Given the description of an element on the screen output the (x, y) to click on. 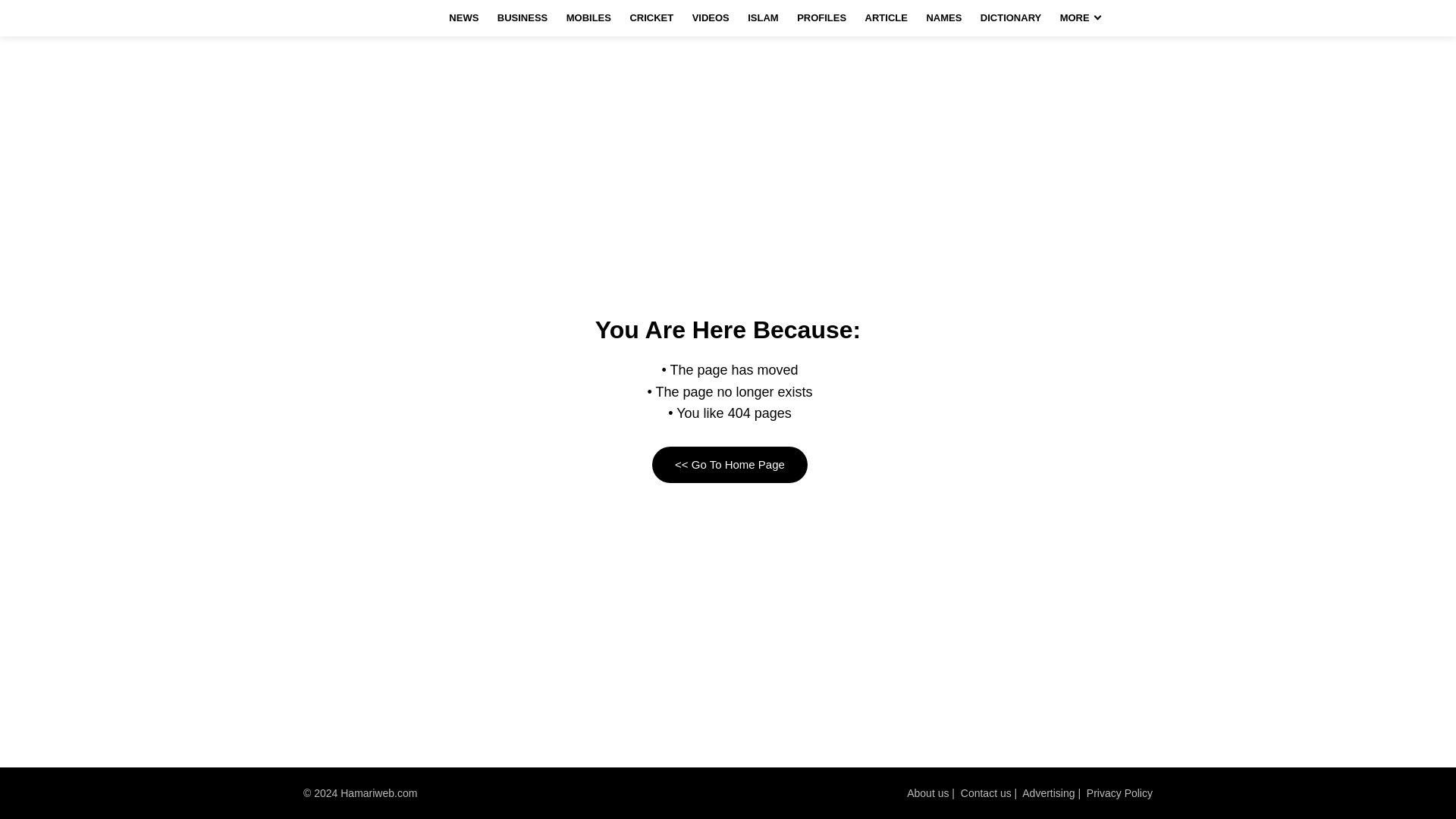
ISLAM (762, 18)
NEWS (463, 18)
NAMES (943, 18)
DICTIONARY (1010, 18)
CRICKET (651, 18)
MORE (1080, 18)
VIDEOS (710, 18)
Hamariweb (349, 18)
BUSINESS (521, 18)
PROFILES (821, 18)
